Given the description of an element on the screen output the (x, y) to click on. 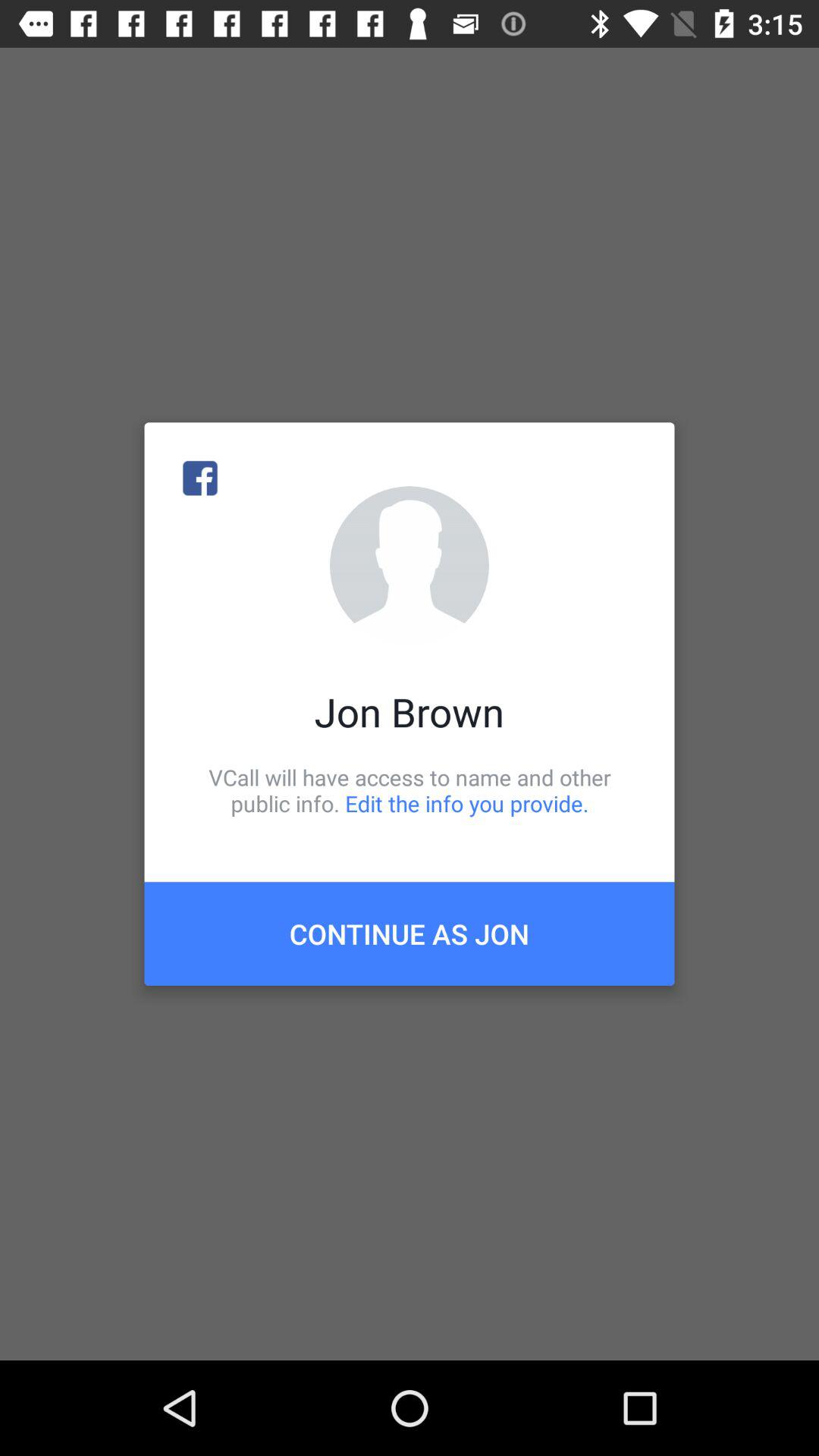
select vcall will have (409, 790)
